Given the description of an element on the screen output the (x, y) to click on. 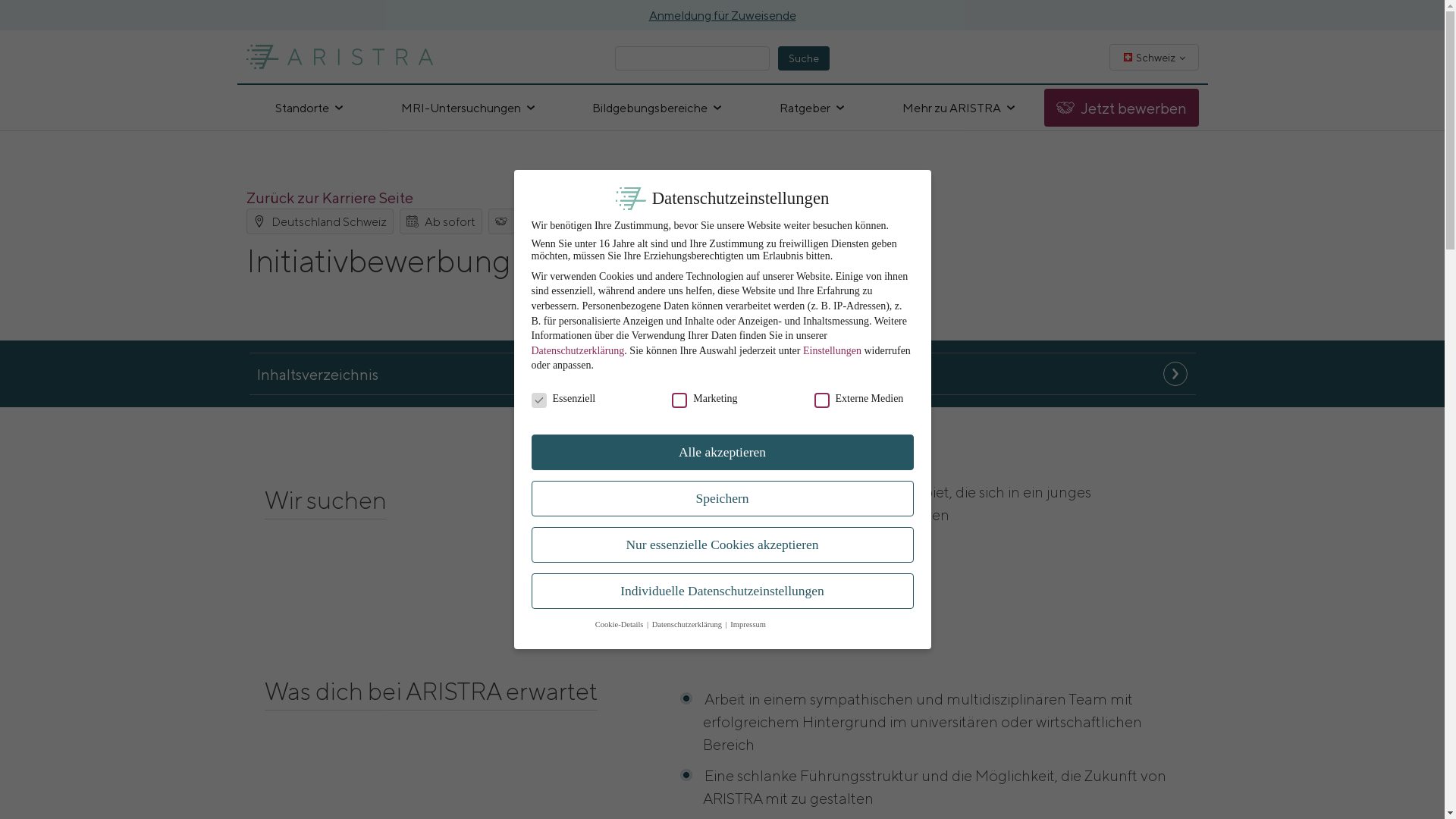
Alle akzeptieren Element type: text (721, 452)
Einstellungen Element type: text (832, 350)
Standorte Element type: text (308, 107)
Ratgeber Element type: text (811, 107)
Nur essenzielle Cookies akzeptieren Element type: text (721, 545)
Jetzt bewerben Element type: text (1120, 107)
Schweiz Element type: text (1153, 56)
Impressum Element type: text (747, 624)
Individuelle Datenschutzeinstellungen Element type: text (721, 591)
Mehr zu ARISTRA Element type: text (958, 107)
Speichern Element type: text (721, 498)
Bildgebungsbereiche Element type: text (656, 107)
Suche Element type: text (803, 57)
Cookie-Details Element type: text (620, 624)
MRI-Untersuchungen Element type: text (467, 107)
